Given the description of an element on the screen output the (x, y) to click on. 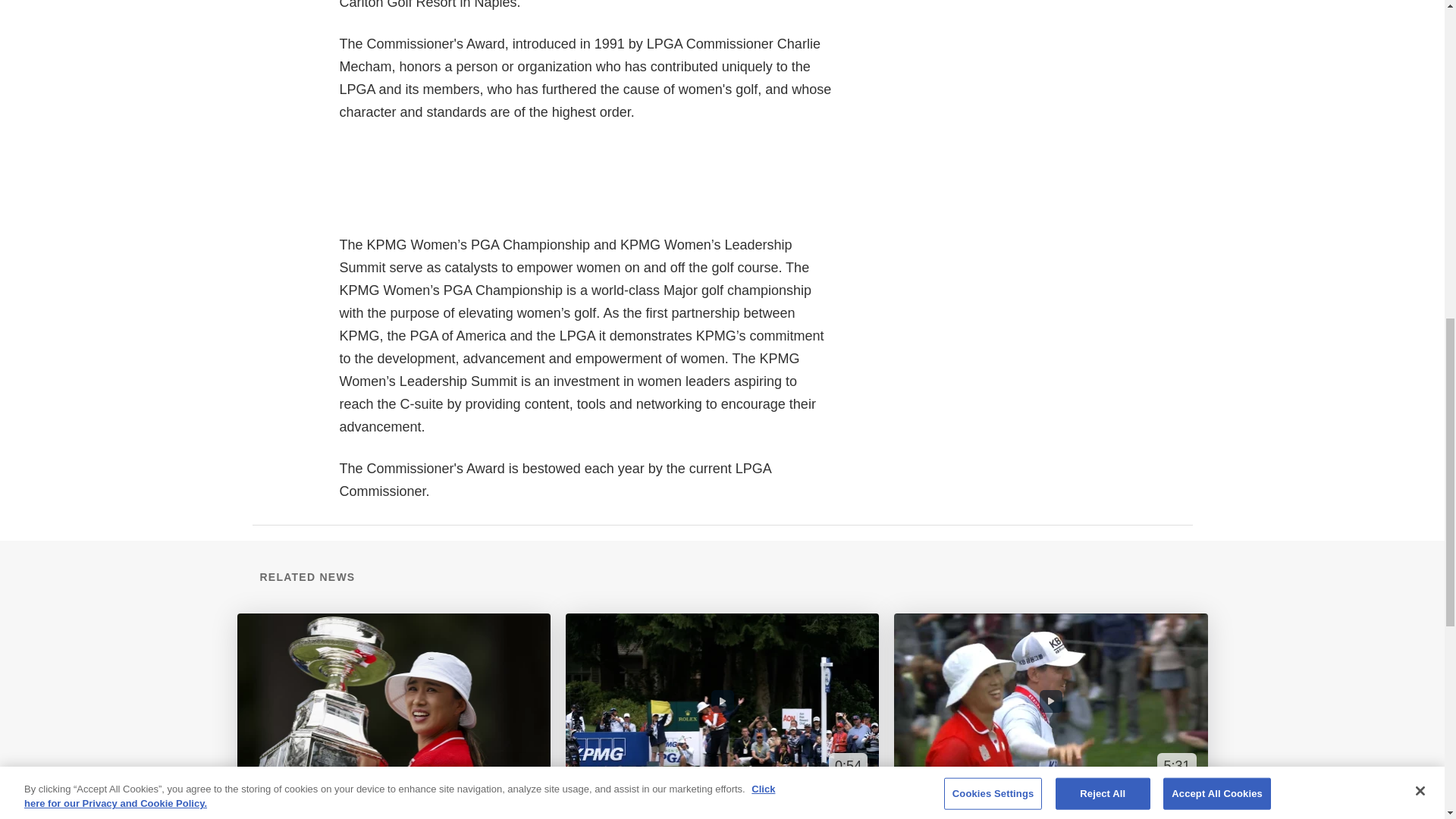
3rd party ad content (1055, 11)
3rd party ad content (615, 176)
